Given the description of an element on the screen output the (x, y) to click on. 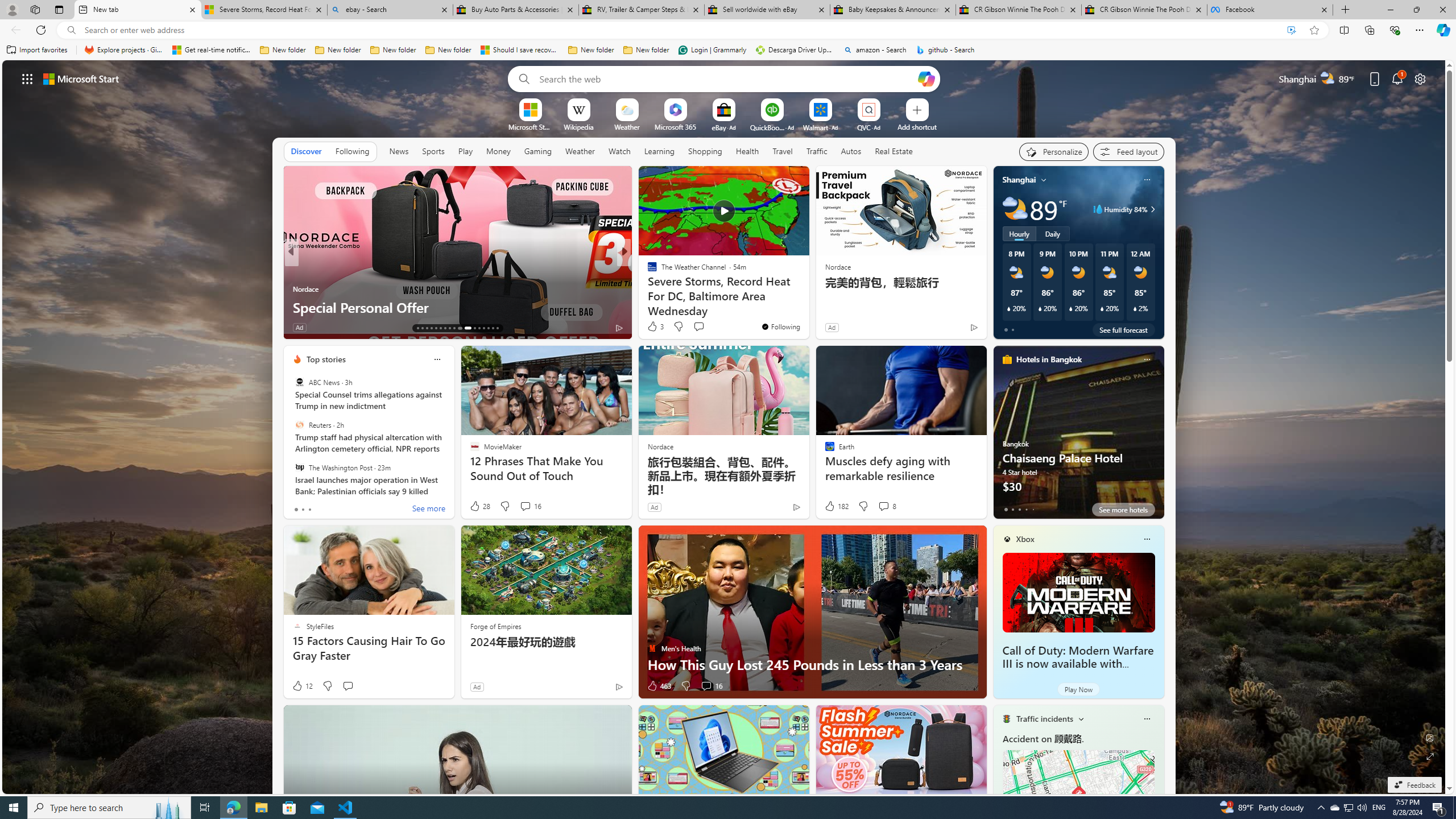
News (398, 151)
Split screen (1344, 29)
View comments 96 Comment (6, 327)
Health (746, 151)
Microsoft 365 (675, 126)
To get missing image descriptions, open the context menu. (529, 109)
Refresh (40, 29)
View comments 167 Comment (709, 327)
amazon - Search (875, 49)
Learning (659, 151)
Buy Auto Parts & Accessories | eBay (515, 9)
